Given the description of an element on the screen output the (x, y) to click on. 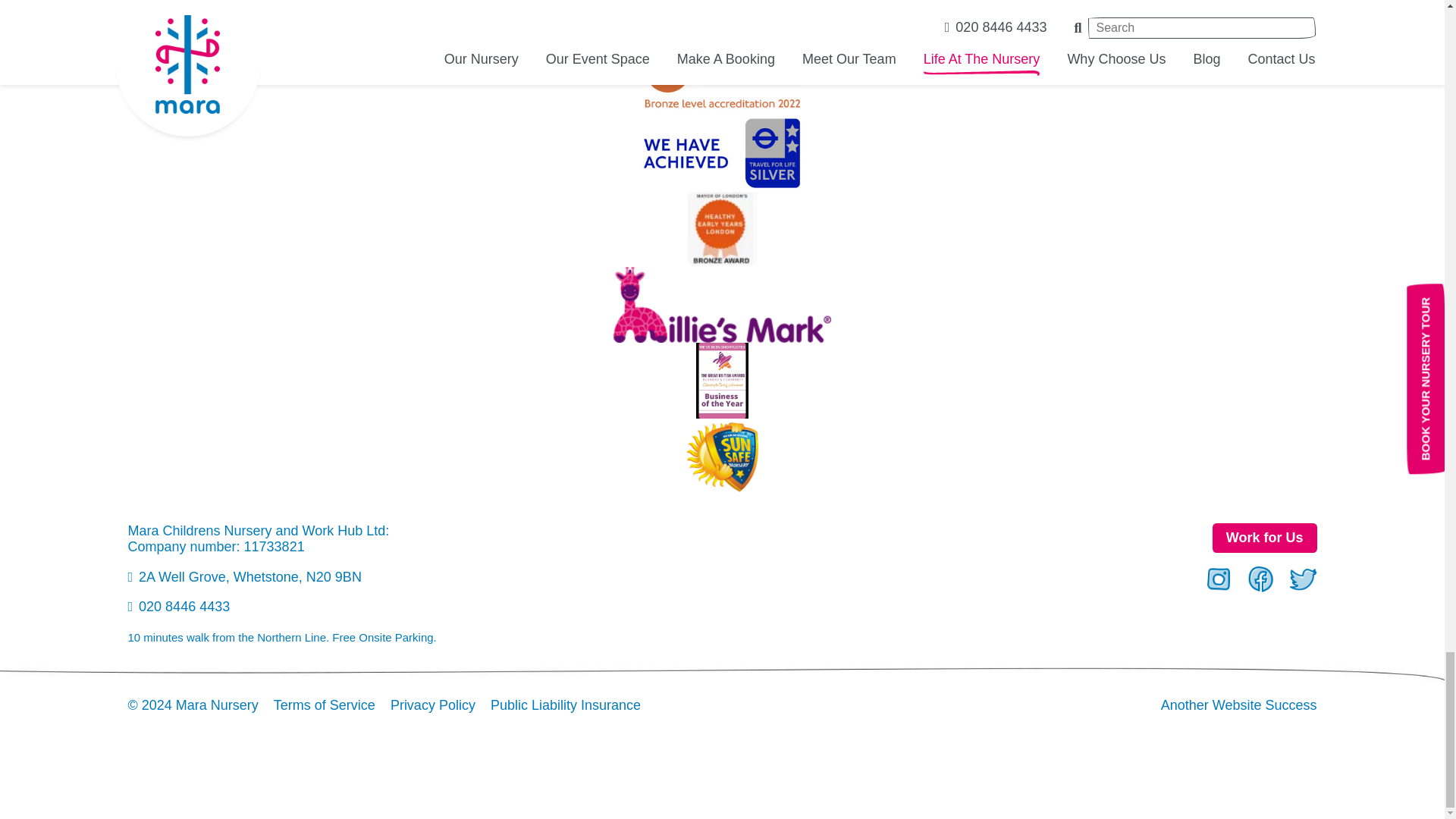
Public Liability Insurance (565, 705)
Terms of Service (324, 705)
Work for Us (1264, 538)
Privacy Policy (433, 705)
Another Website Success (1238, 705)
